Given the description of an element on the screen output the (x, y) to click on. 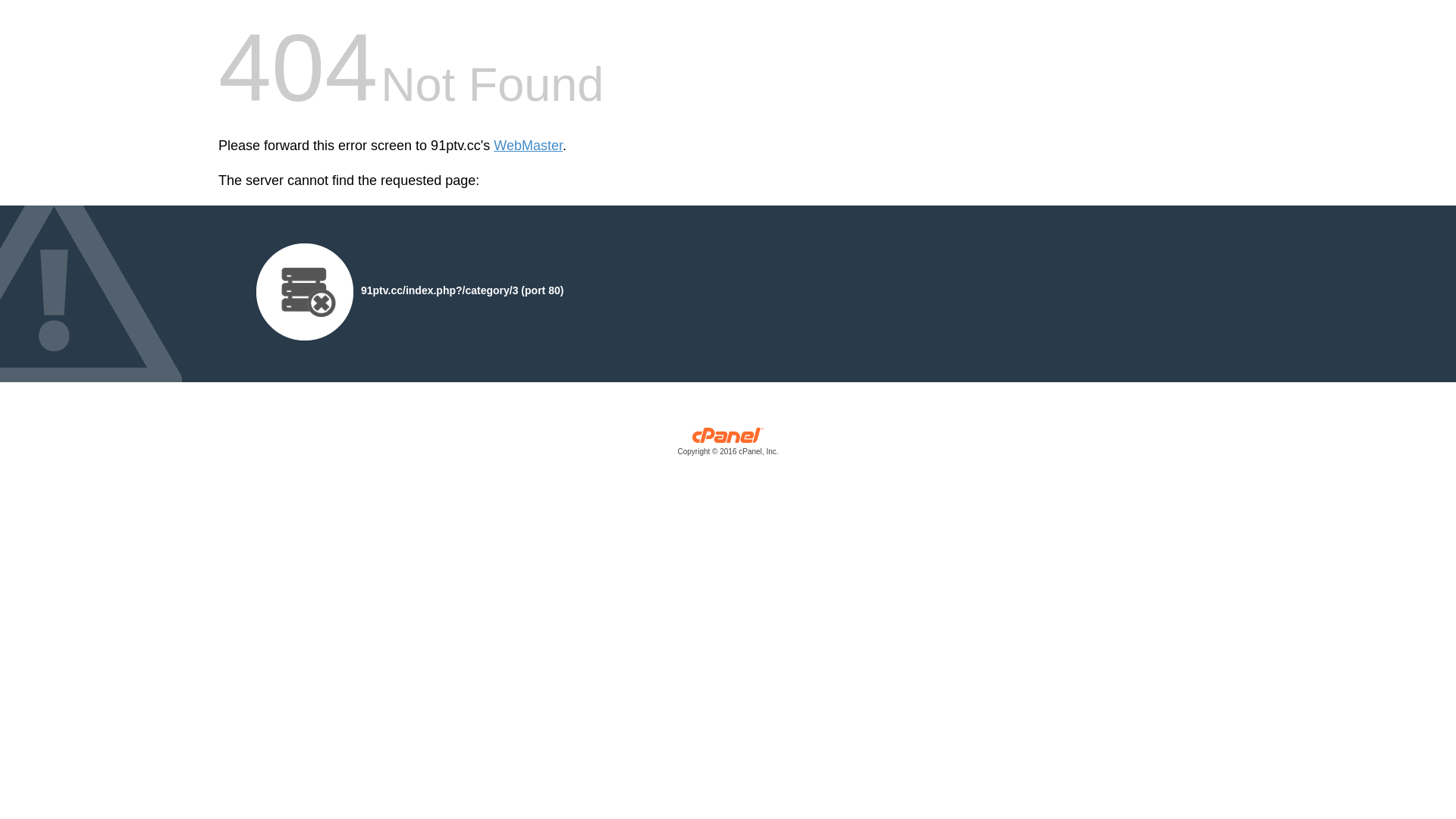
WebMaster Element type: text (527, 145)
